Given the description of an element on the screen output the (x, y) to click on. 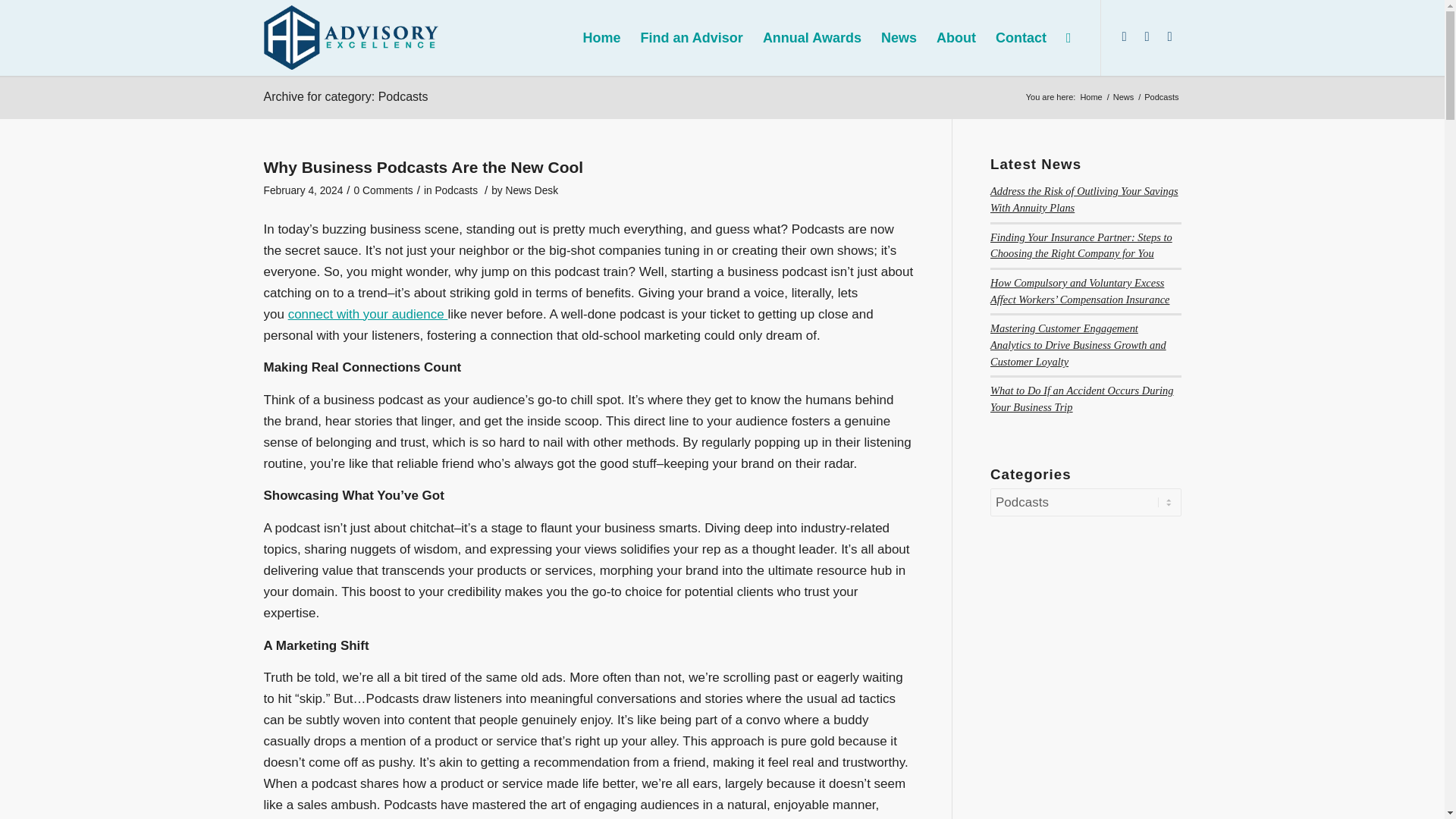
Find an Advisor (691, 38)
Home (1090, 97)
Advisory Excellence (1090, 97)
News Desk (531, 190)
Contact (1021, 38)
Annual Awards (811, 38)
News (1123, 97)
News (1123, 97)
0 Comments (383, 190)
Permanent Link: Archive for category: Podcasts (345, 96)
